Given the description of an element on the screen output the (x, y) to click on. 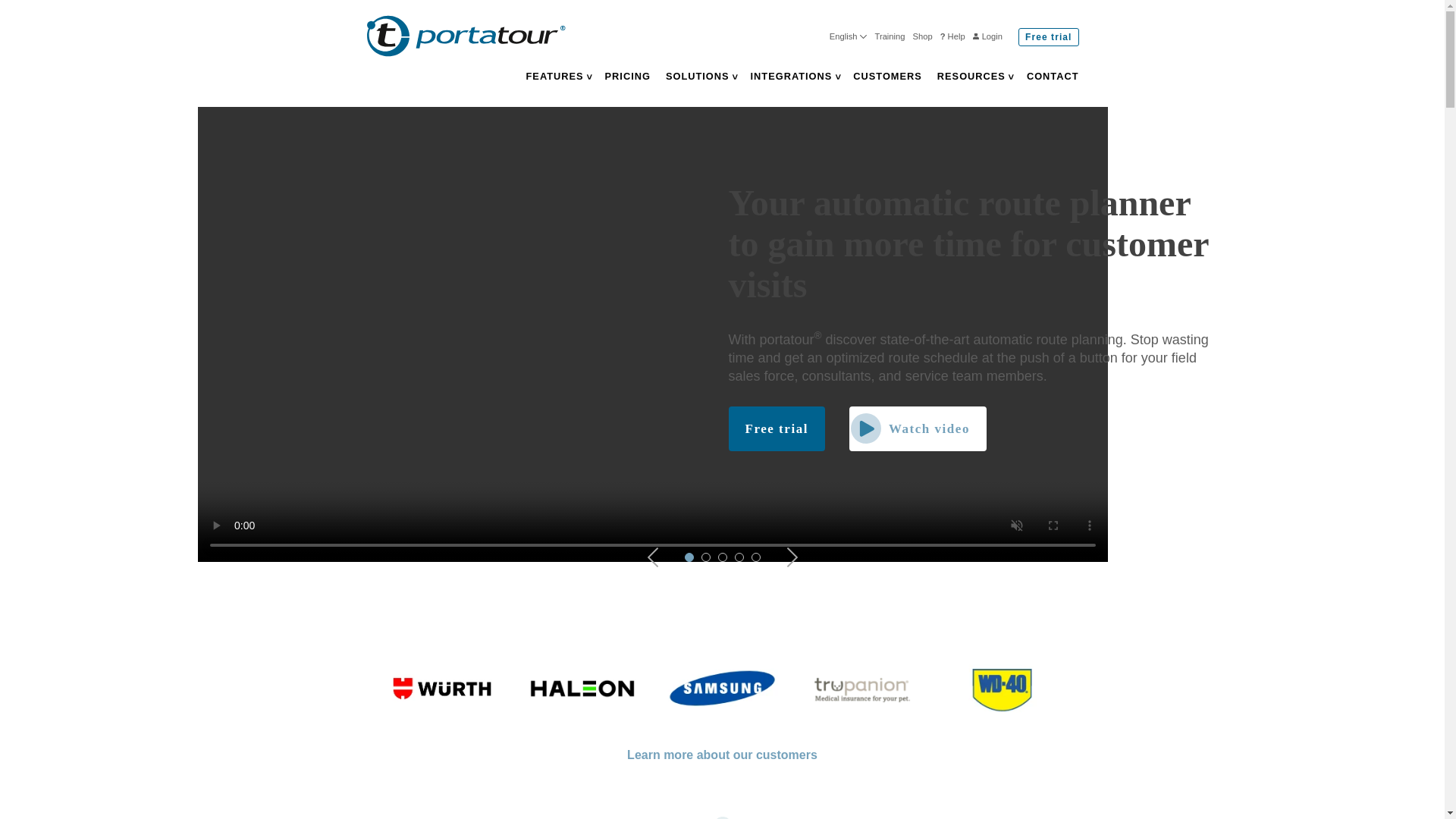
INTEGRATIONS (796, 75)
Haleon (582, 688)
Trupanion (862, 688)
SOLUTIONS (701, 75)
Training (890, 37)
WD-40 Company (1002, 688)
Samsung Electronics (721, 688)
RESOURCES (975, 75)
Free trial (1047, 36)
CUSTOMERS (887, 75)
